Given the description of an element on the screen output the (x, y) to click on. 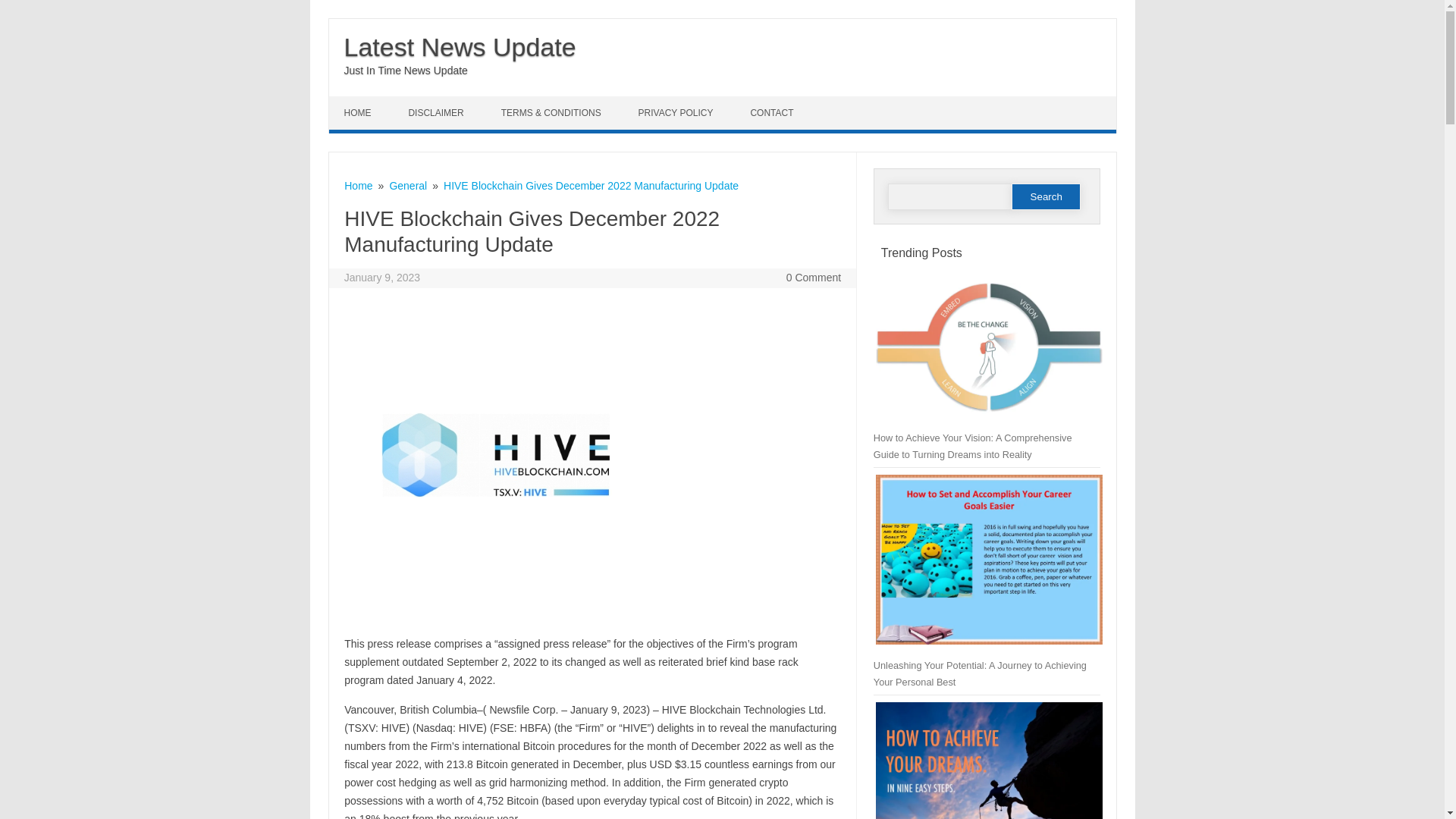
DISCLAIMER (437, 112)
Home (357, 185)
PRIVACY POLICY (677, 112)
CONTACT (773, 112)
Latest News Update (459, 46)
HOME (359, 112)
0 Comment (813, 277)
Skip to content (363, 101)
Skip to content (363, 101)
Just In Time News Update (405, 70)
HIVE Blockchain Gives December 2022 Manufacturing Update (591, 185)
General (407, 185)
